Given the description of an element on the screen output the (x, y) to click on. 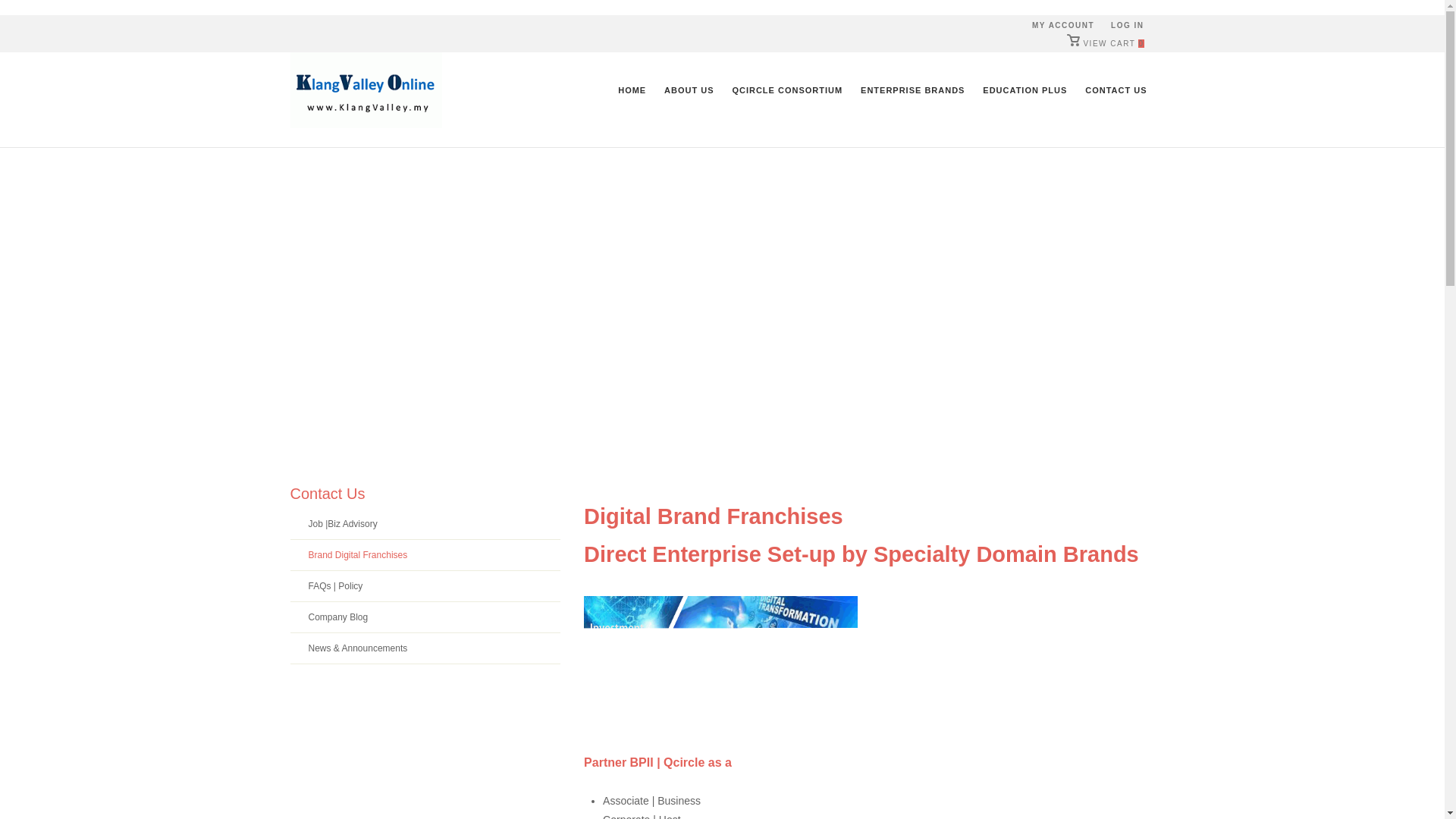
HOME (631, 89)
ENTERPRISE BRANDS (912, 89)
MY ACCOUNT (1063, 25)
Contact Us (327, 493)
Company Blog (424, 617)
QCIRCLE CONSORTIUM (786, 89)
LOG IN (1127, 25)
CONTACT US (1115, 89)
ABOUT US (688, 89)
